Given the description of an element on the screen output the (x, y) to click on. 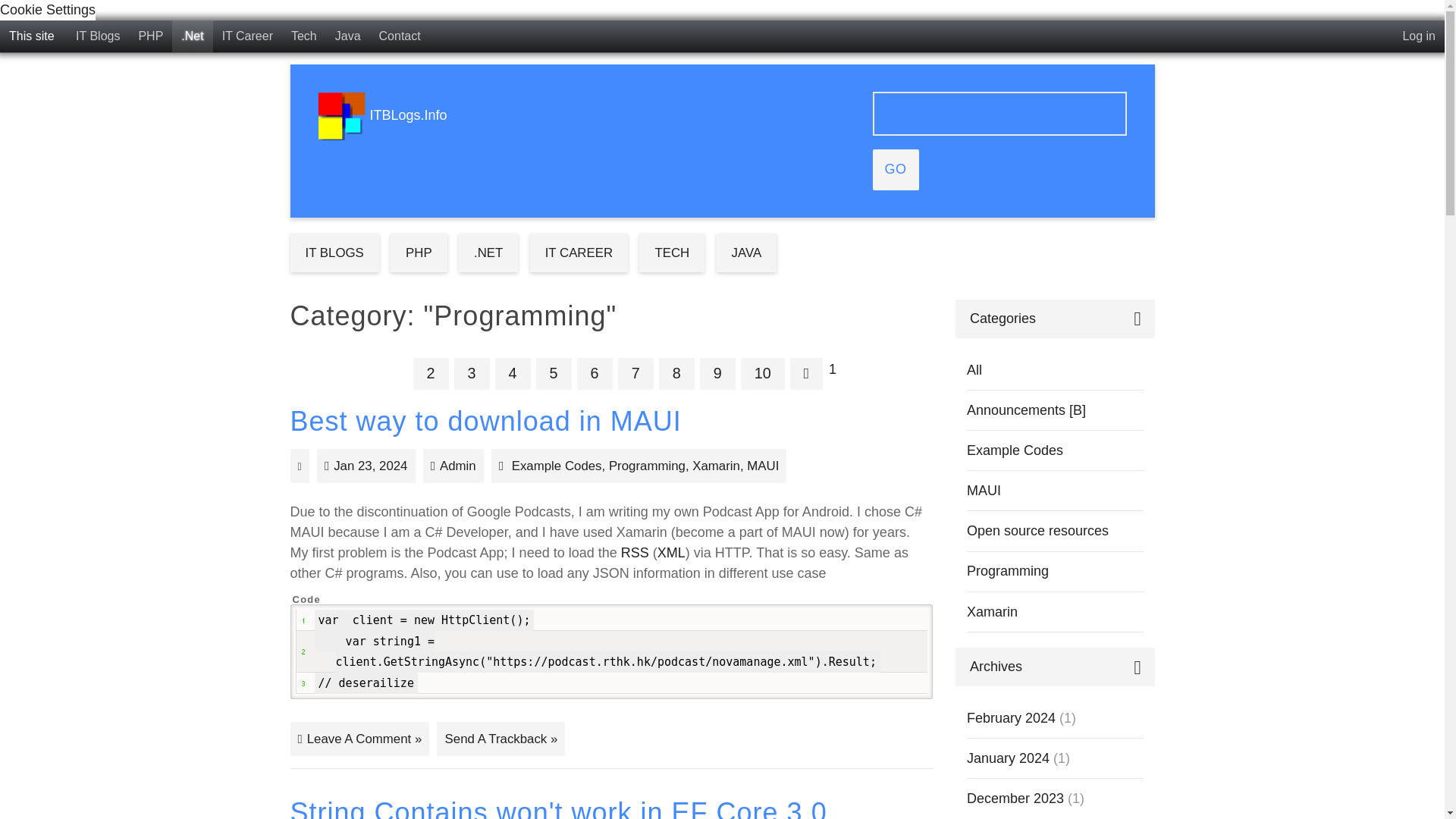
9 (717, 373)
3 (471, 373)
JAVA (746, 252)
6 (594, 373)
2 (430, 373)
8 (676, 373)
Go (895, 169)
Browse category (557, 465)
IT BLOGS (333, 252)
My .Net Blog (191, 36)
